Given the description of an element on the screen output the (x, y) to click on. 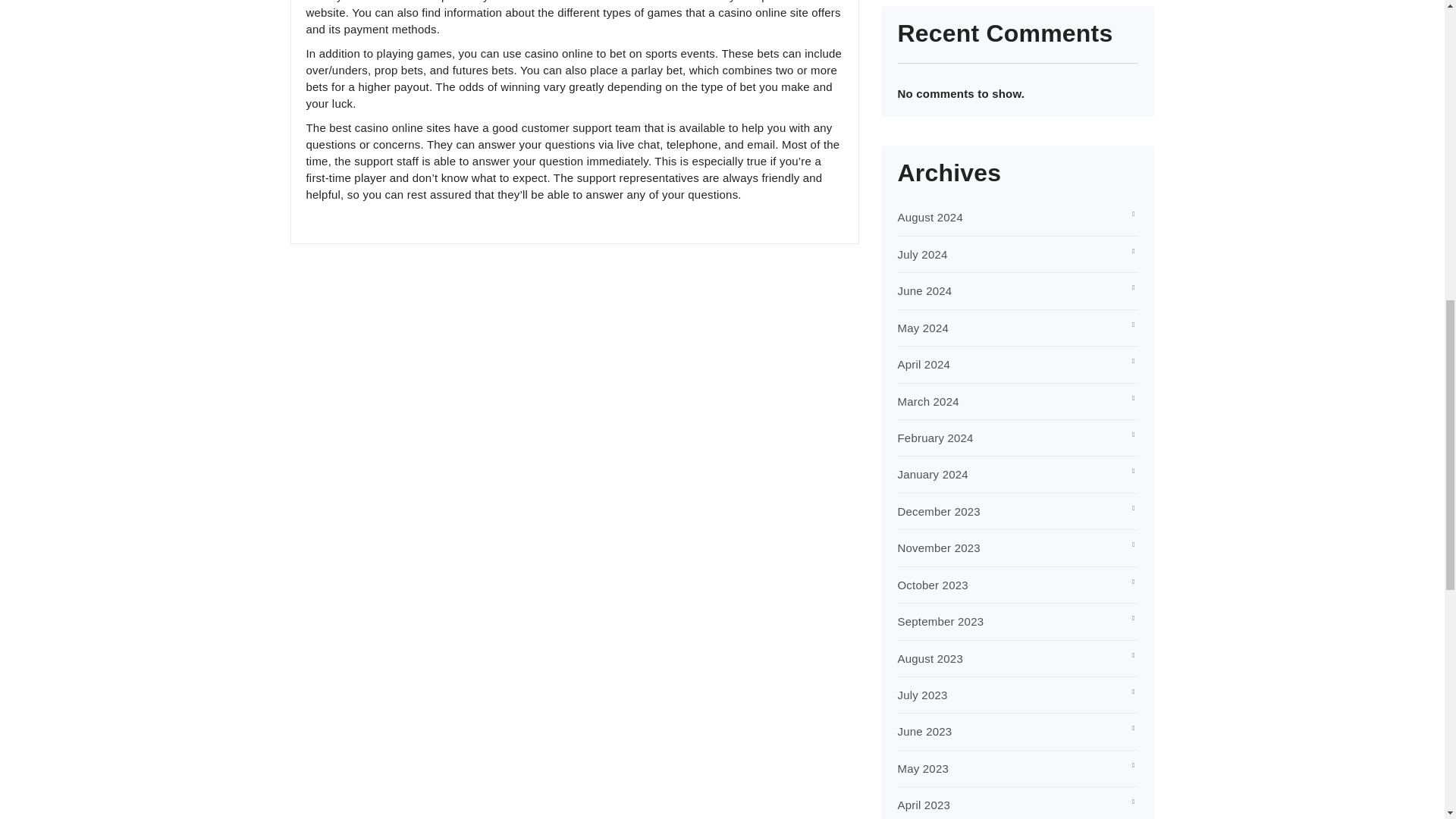
August 2023 (930, 658)
June 2024 (925, 290)
March 2024 (928, 400)
February 2024 (936, 437)
December 2023 (938, 511)
September 2023 (941, 621)
June 2023 (925, 730)
May 2023 (923, 768)
January 2024 (933, 473)
May 2024 (923, 327)
